Given the description of an element on the screen output the (x, y) to click on. 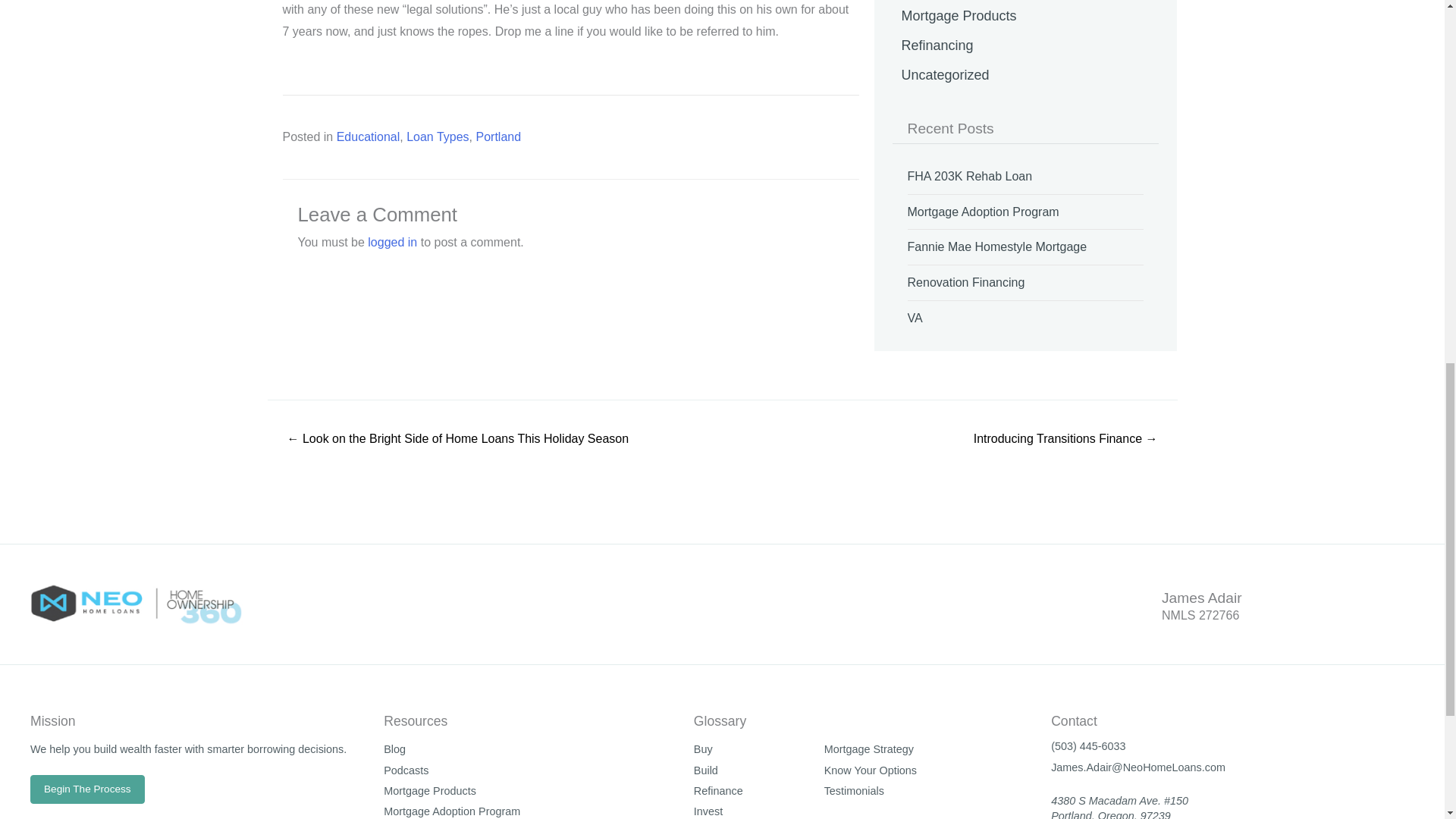
Educational (368, 136)
Portland (498, 136)
Loan Types (437, 136)
logged in (392, 241)
